Given the description of an element on the screen output the (x, y) to click on. 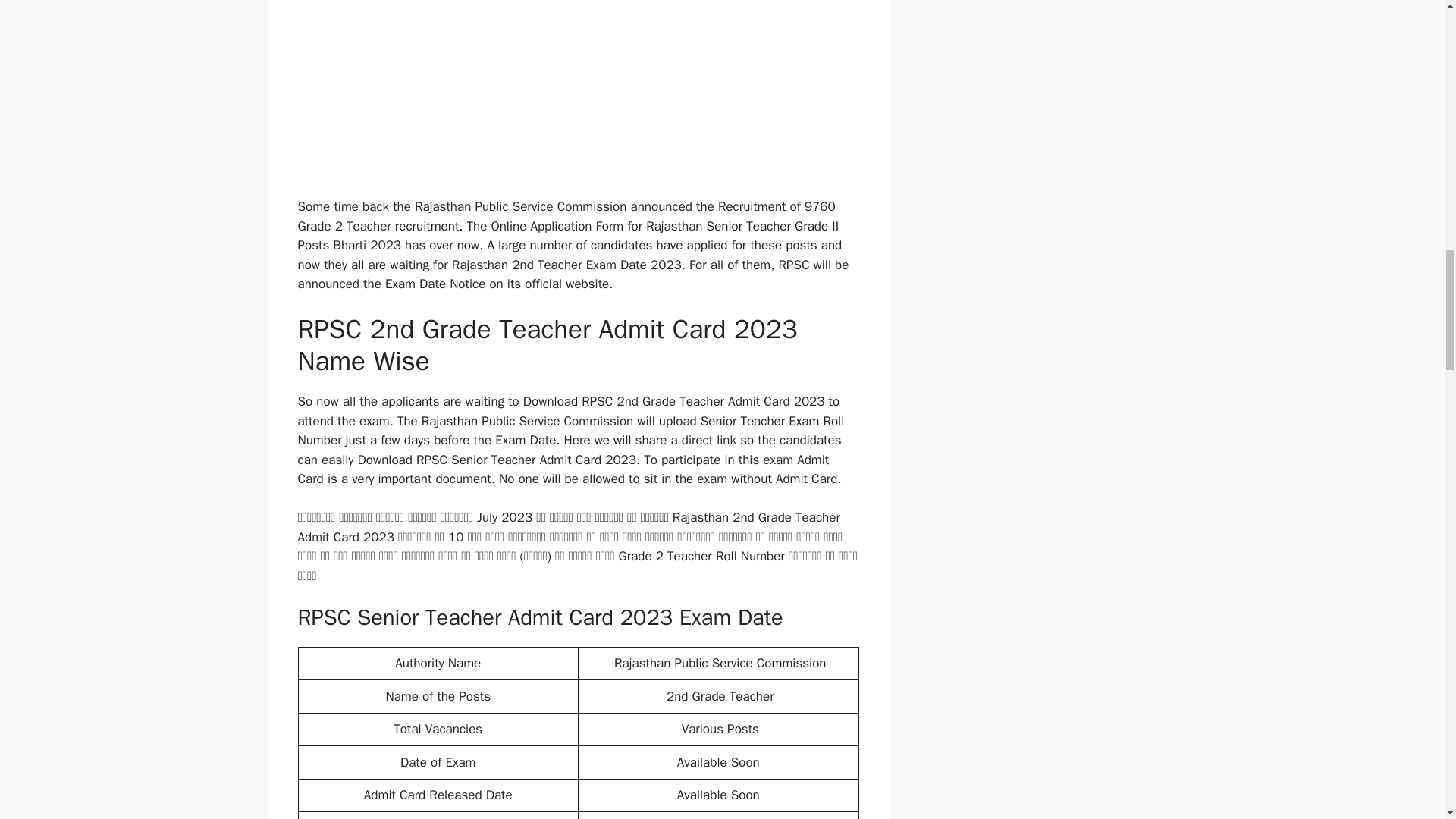
Advertisement (578, 95)
